Given the description of an element on the screen output the (x, y) to click on. 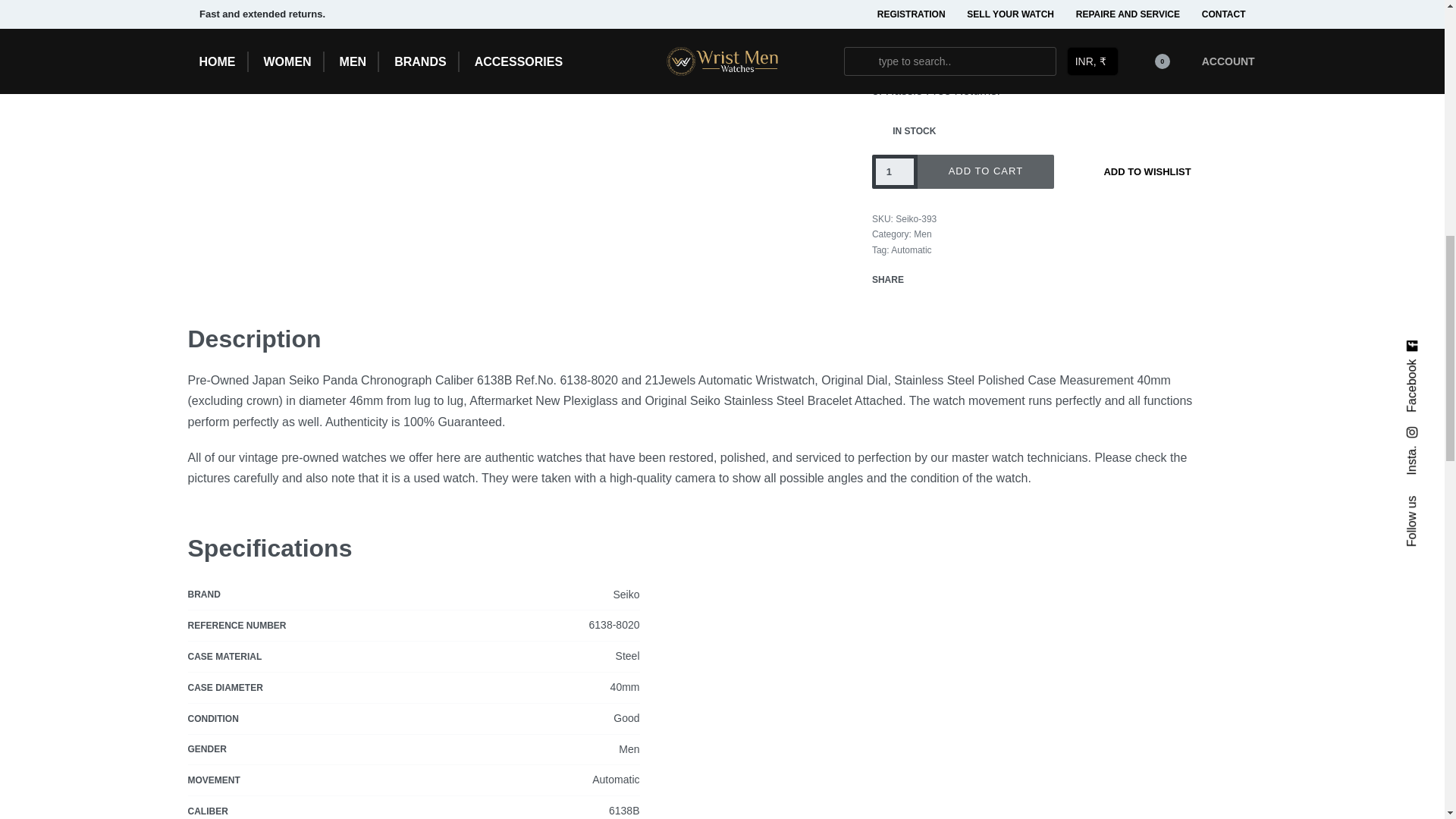
1 (894, 171)
